Given the description of an element on the screen output the (x, y) to click on. 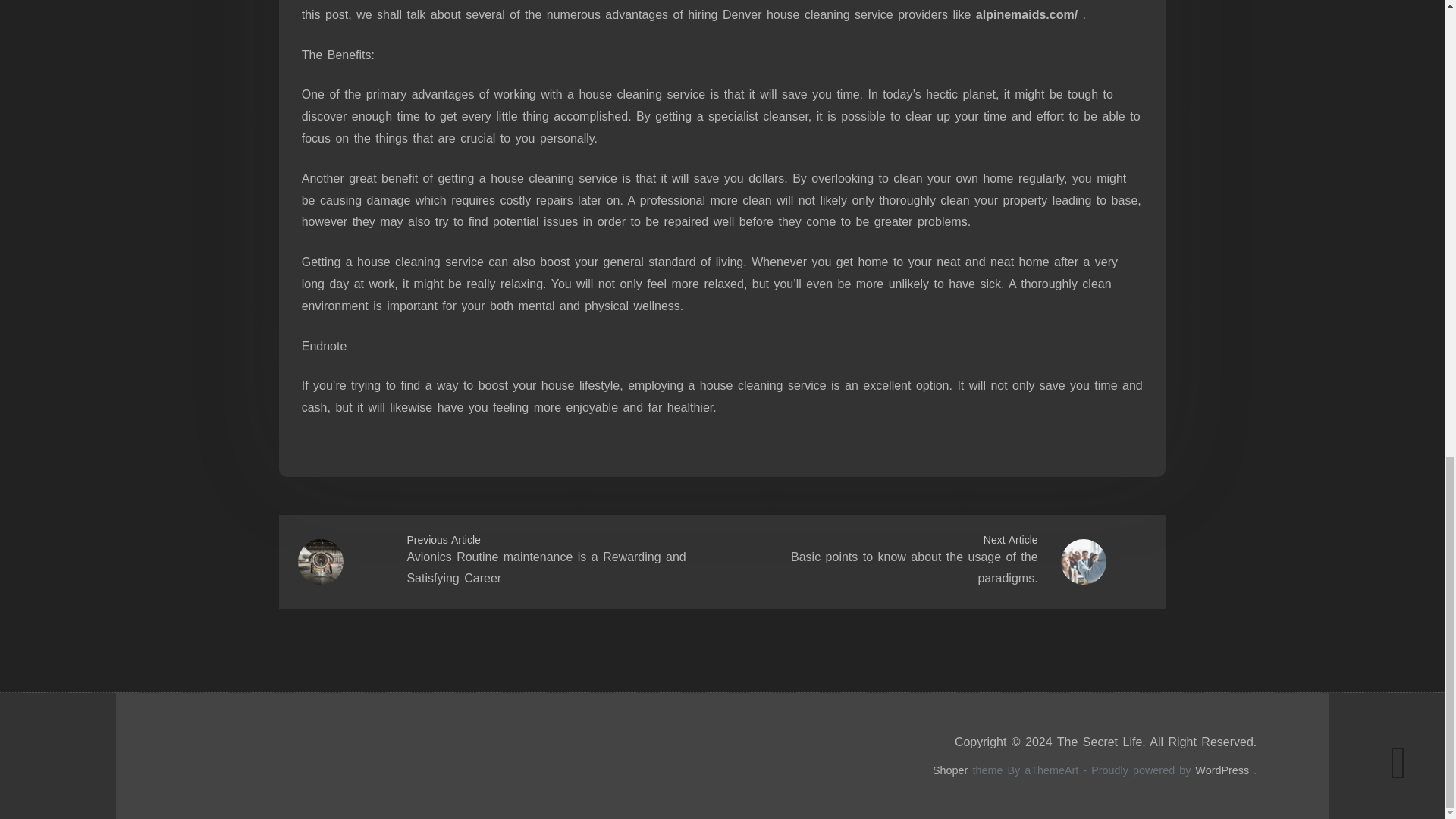
WordPress (1222, 770)
Shoper (950, 770)
Basic points to know about the usage of the paradigms. (914, 567)
